Given the description of an element on the screen output the (x, y) to click on. 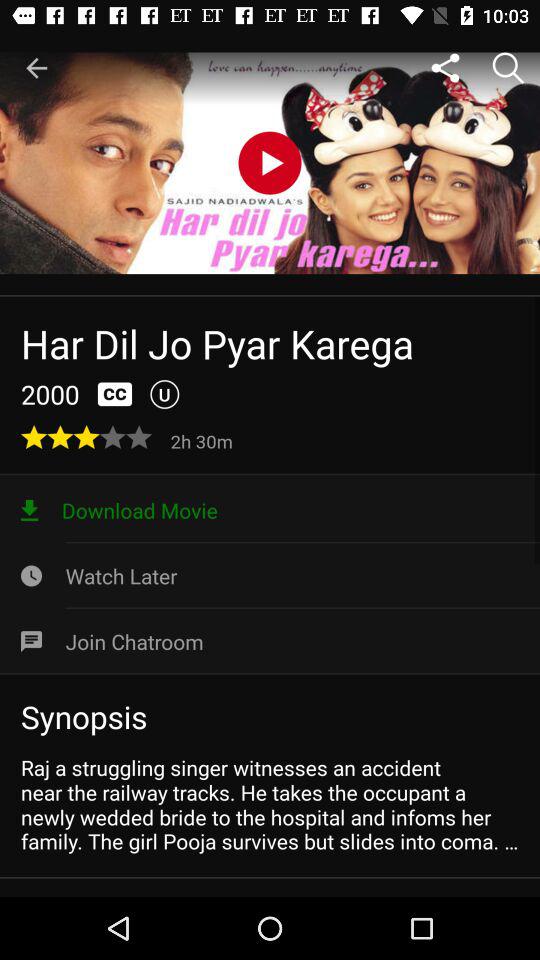
click the icon below u item (203, 440)
